Given the description of an element on the screen output the (x, y) to click on. 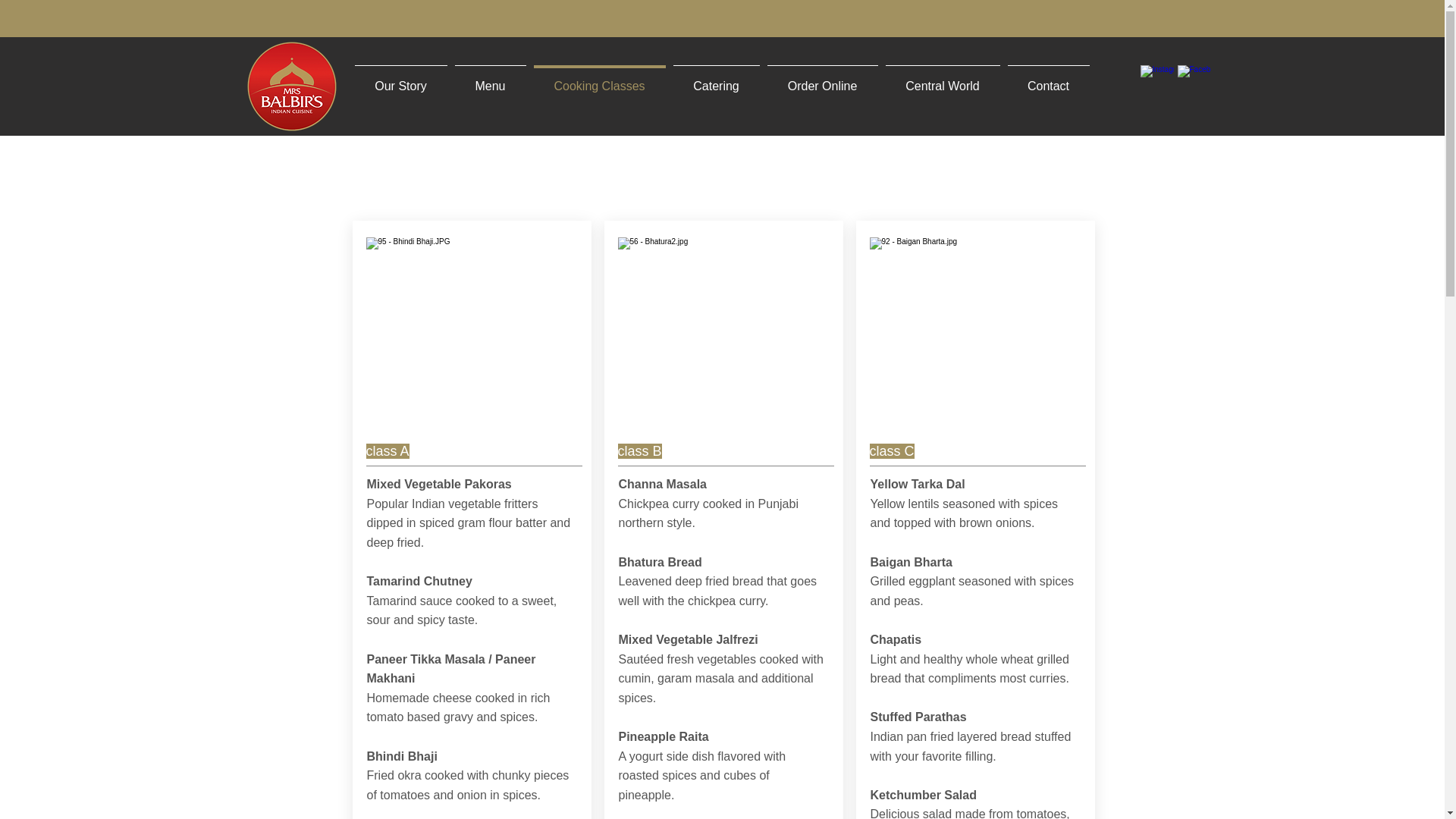
Central World (941, 79)
Menu (489, 79)
Our Story (399, 79)
Cooking Classes (598, 79)
Order Online (821, 79)
Contact (1048, 79)
Catering (715, 79)
